Given the description of an element on the screen output the (x, y) to click on. 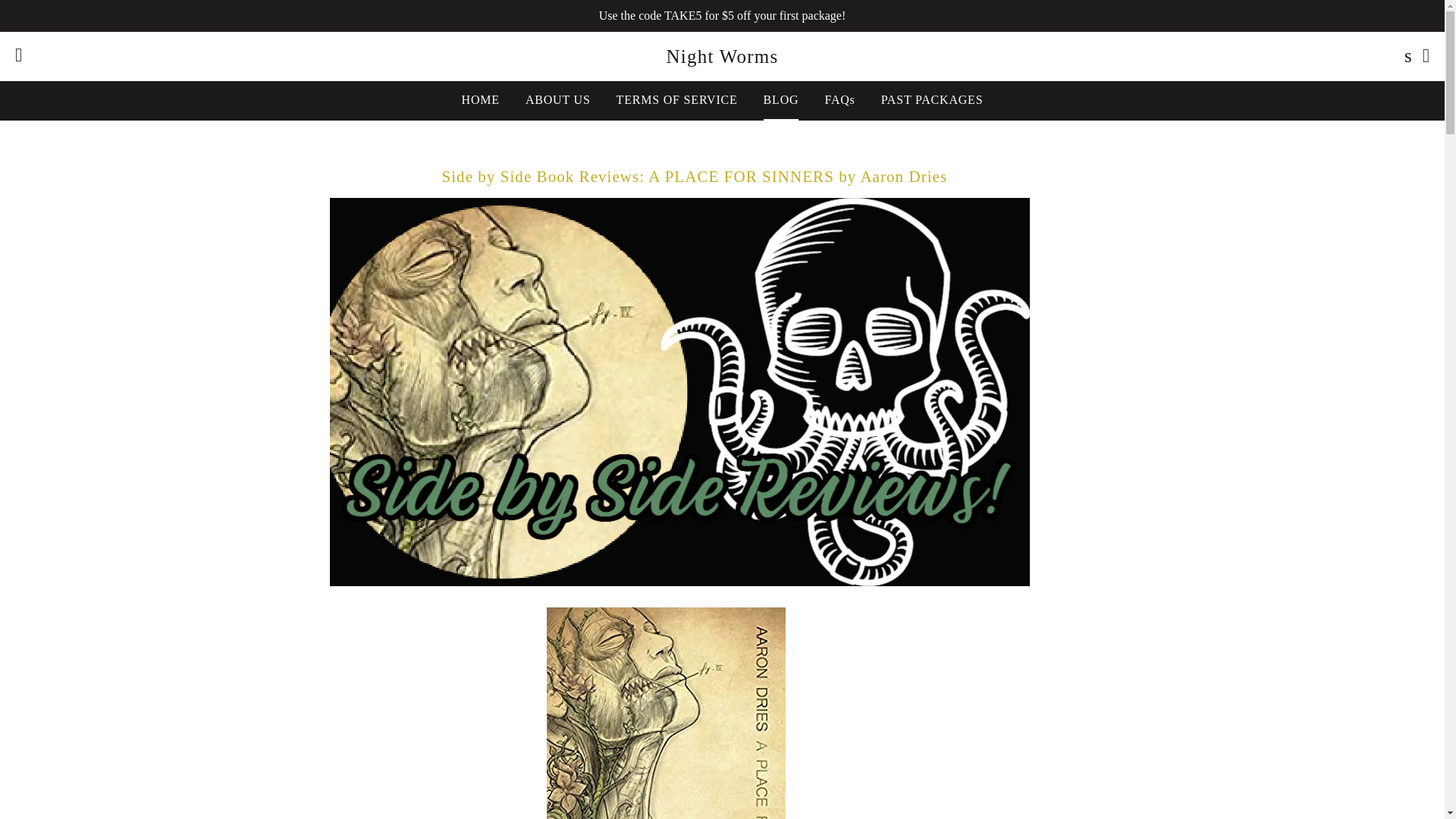
FAQs (839, 99)
HOME (480, 99)
Night Worms (722, 56)
BLOG (781, 99)
ABOUT US (557, 99)
PAST PACKAGES (931, 99)
TERMS OF SERVICE (677, 99)
